Given the description of an element on the screen output the (x, y) to click on. 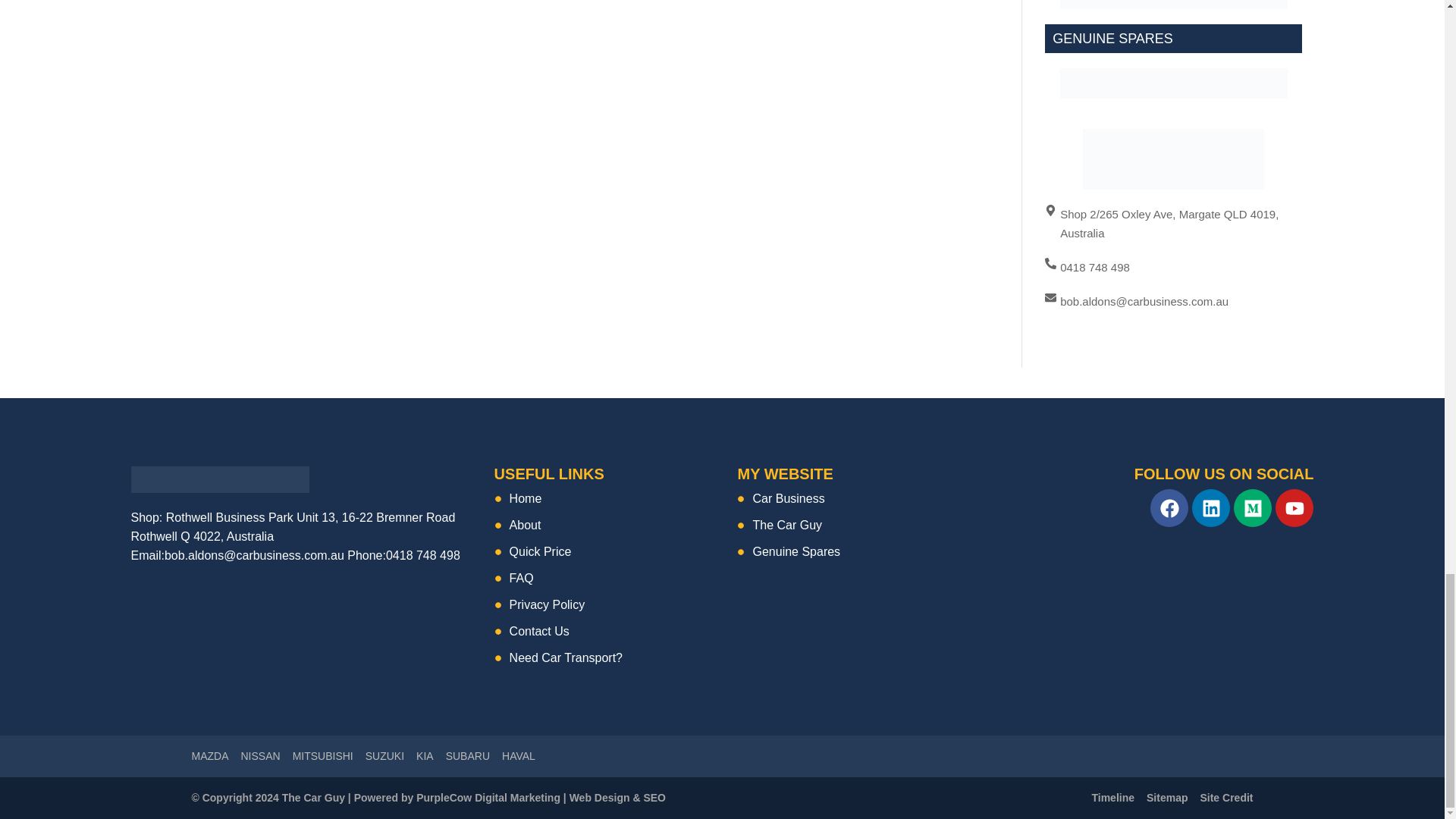
About (601, 524)
Genuine Spares (844, 551)
FAQ (601, 578)
Need Car Transport? (601, 657)
The Car Guy (844, 524)
Privacy Policy (601, 604)
Contact Us (601, 630)
Quick Price (601, 551)
Home (601, 497)
Car Business (844, 497)
